Given the description of an element on the screen output the (x, y) to click on. 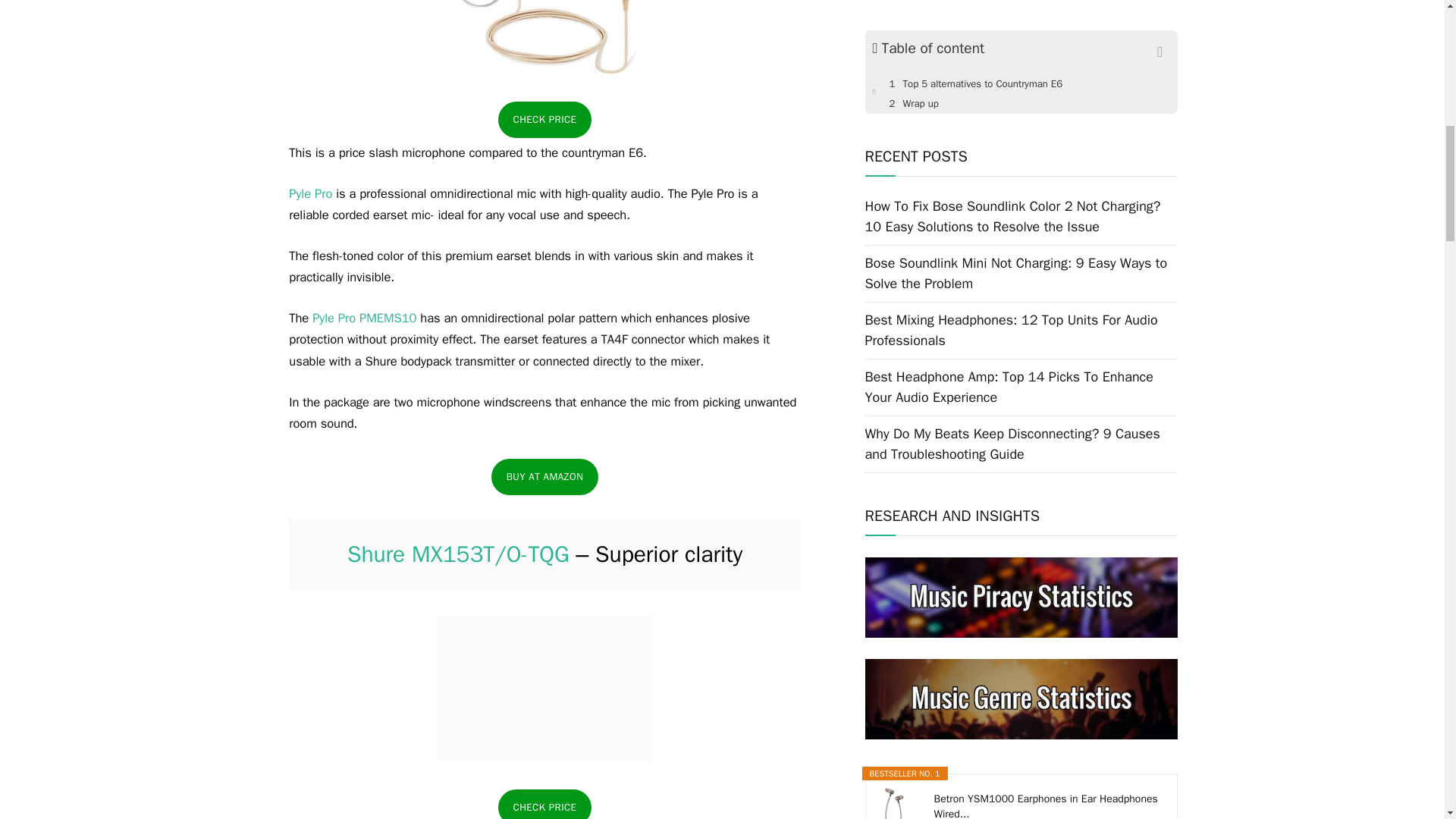
CHECK PRICE (544, 804)
Pyle Pro PMEMS10 (362, 317)
Pyle Pro (309, 193)
CHECK PRICE (544, 119)
BUY AT AMAZON (545, 476)
